Given the description of an element on the screen output the (x, y) to click on. 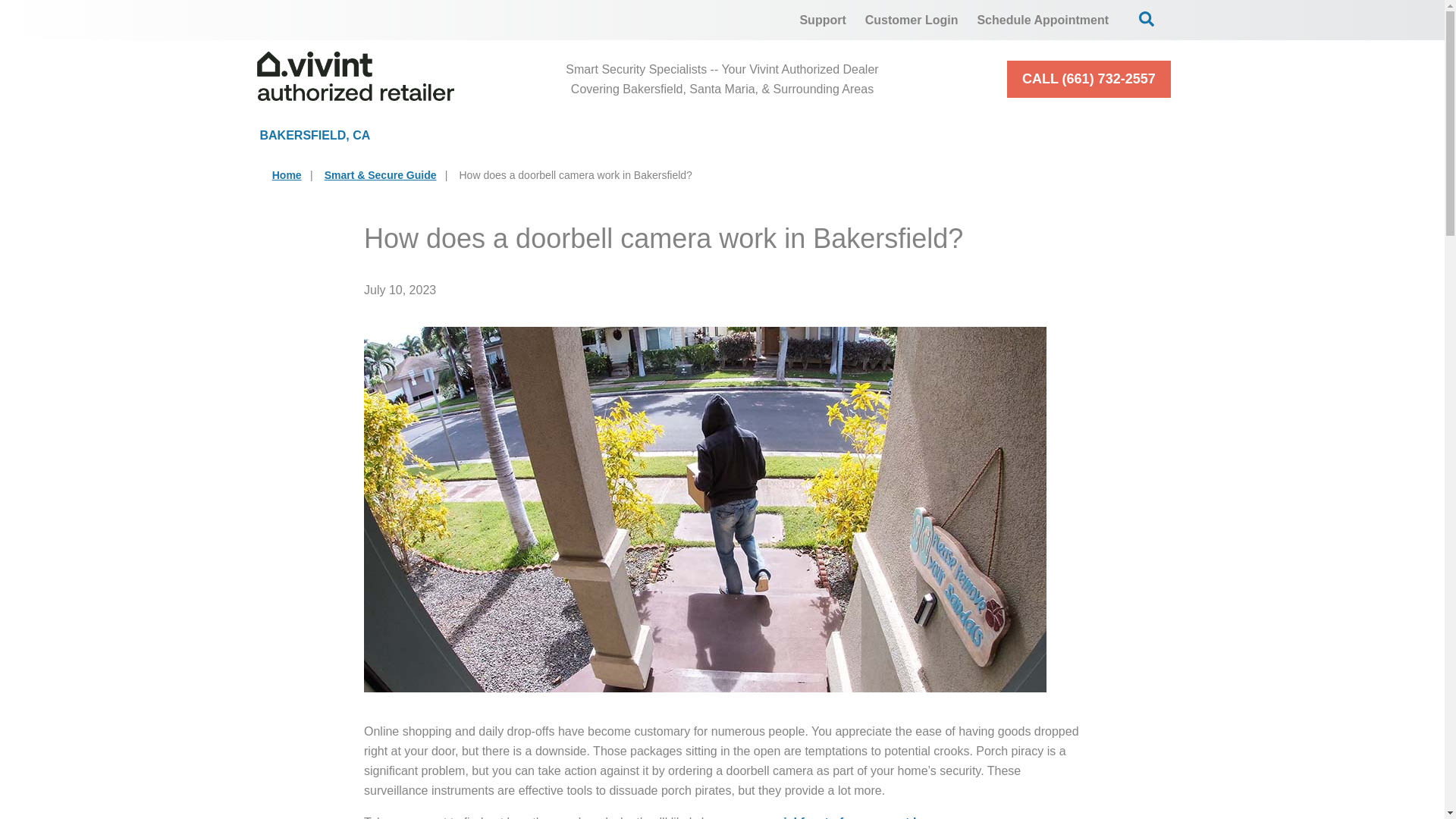
Smart Home Automation (869, 135)
a crucial facet of your smart home (846, 817)
Home (286, 174)
Cameras (673, 135)
Home Security (505, 135)
Schedule Appointment (1042, 20)
Support (822, 20)
Customer Login (911, 20)
Open Search (1146, 18)
